Given the description of an element on the screen output the (x, y) to click on. 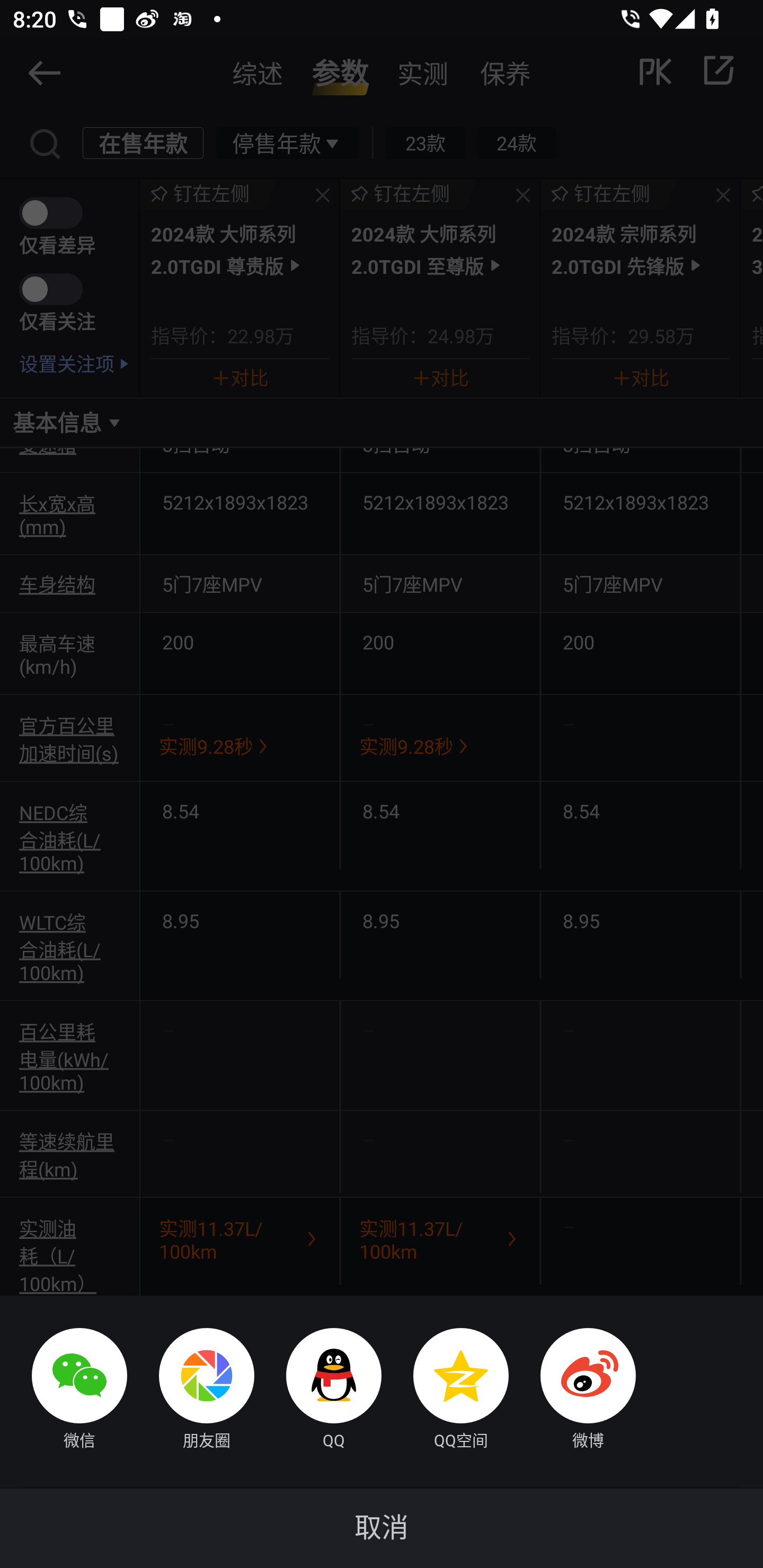
微信 (63, 1390)
朋友圈 (190, 1390)
QQ (317, 1390)
QQ空间 (444, 1390)
微博 (571, 1390)
取消 (381, 1528)
